Given the description of an element on the screen output the (x, y) to click on. 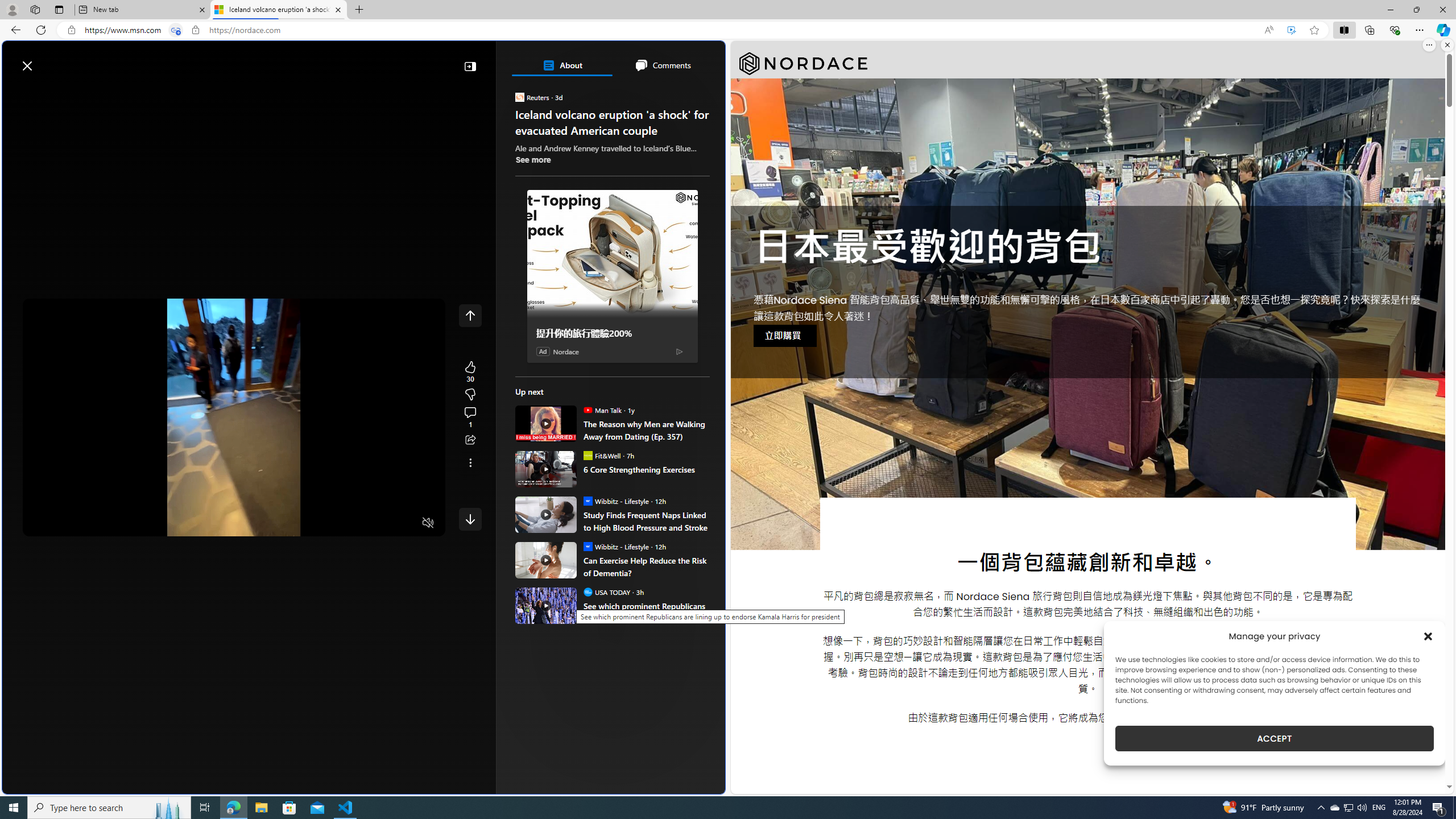
Quality Settings (360, 523)
Open navigation menu (16, 92)
ACCEPT (1274, 738)
View comments 1 Comment (469, 417)
Man Talk Man Talk (601, 409)
